Given the description of an element on the screen output the (x, y) to click on. 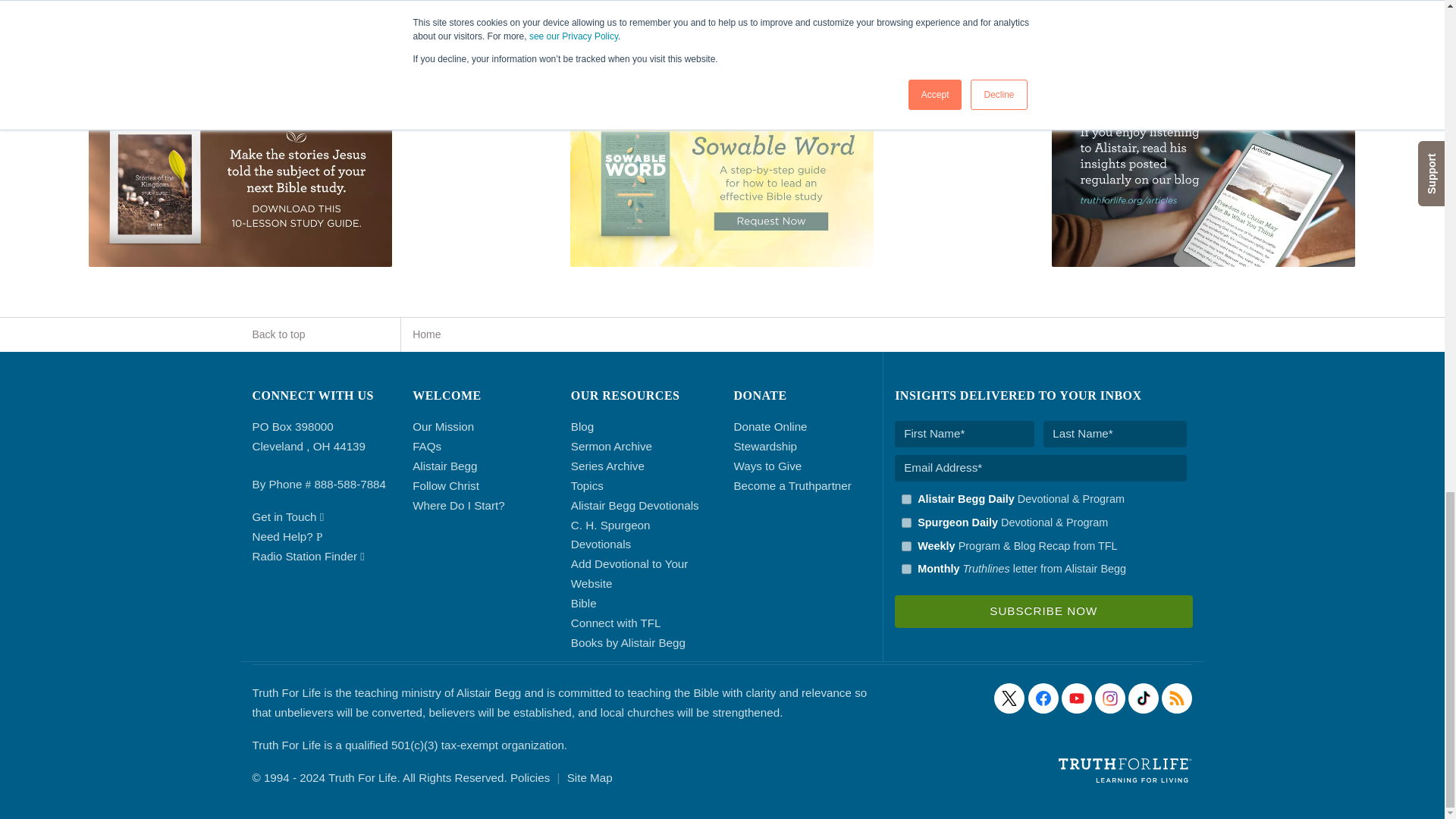
Monthly letter from Alistair Begg (906, 569)
TikTok (1143, 698)
Daily Devotional (906, 522)
Weekly Recap (906, 546)
Twitter (1009, 698)
Subscribe Now (1043, 611)
Facebook (1042, 698)
YouTube (1076, 698)
Instagram (1109, 698)
Alistair Begg Daily Devotional (906, 499)
